Given the description of an element on the screen output the (x, y) to click on. 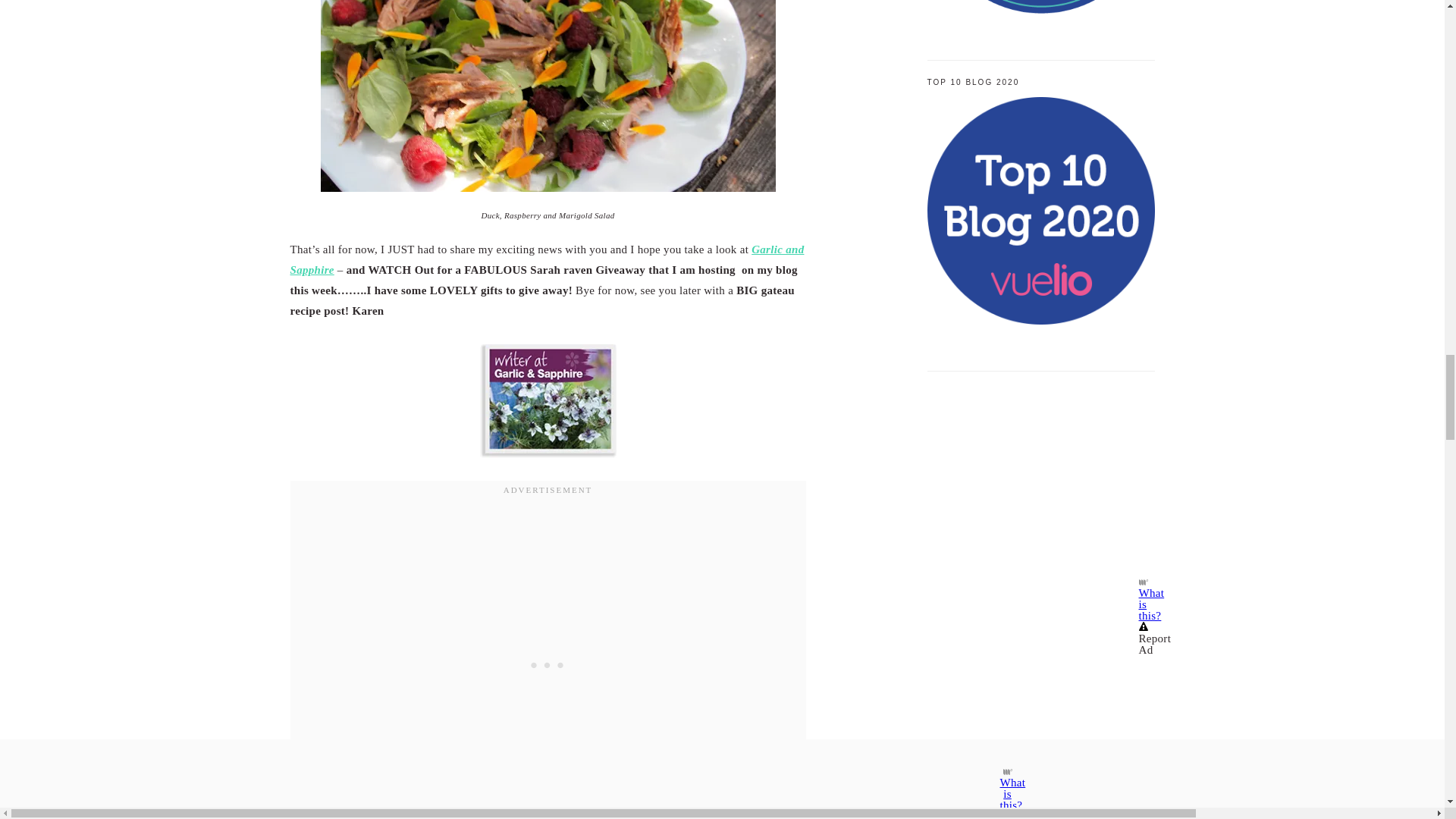
3rd party ad content (1040, 481)
Writer blog button2 (547, 400)
Duck, Raspberry and Marigold Salad (547, 95)
